Given the description of an element on the screen output the (x, y) to click on. 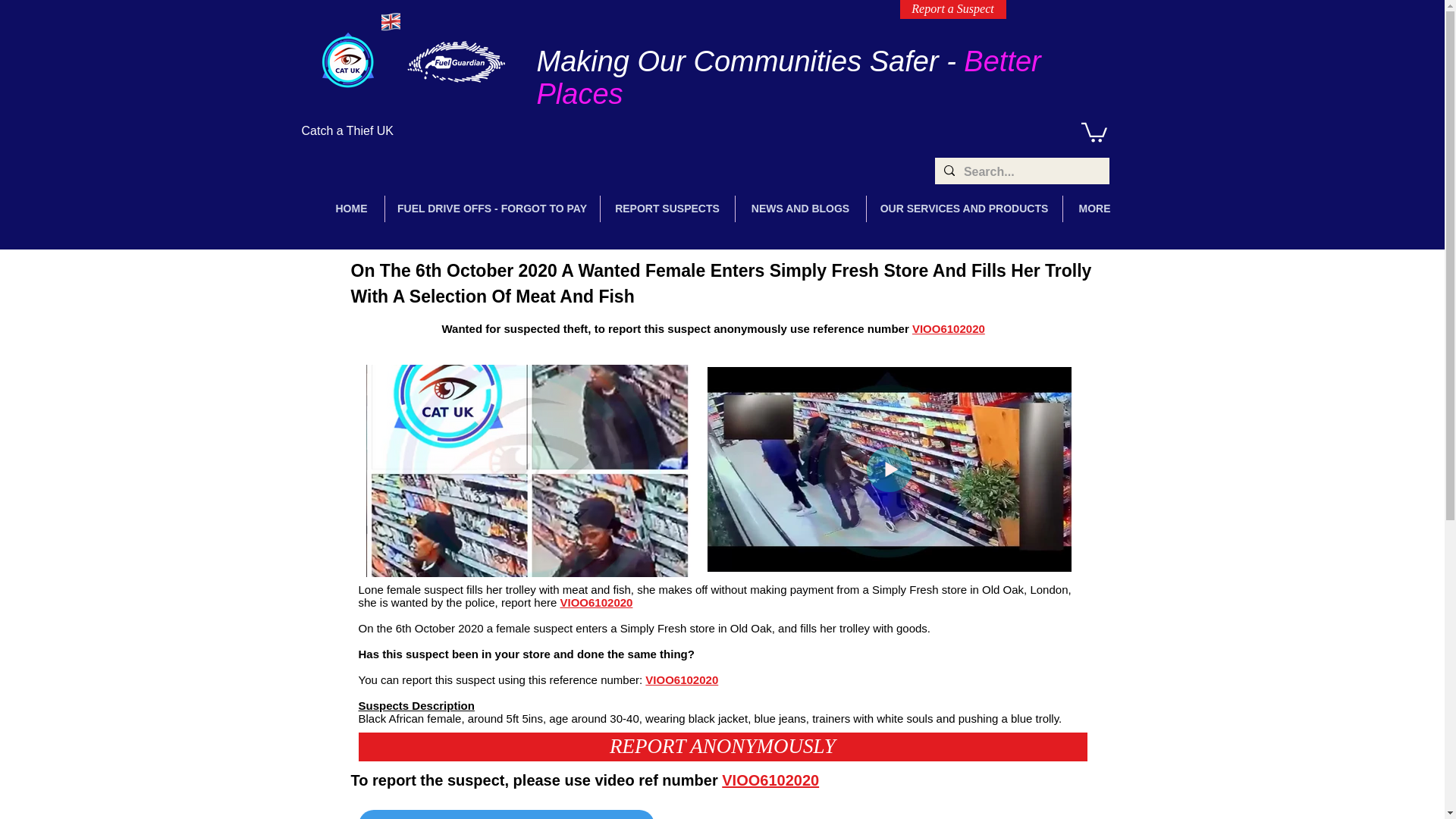
OUR SERVICES AND PRODUCTS (963, 208)
FUEL DRIVE OFFS - FORGOT TO PAY (492, 208)
Catch a Thief UK Home (346, 61)
Report a Suspect (952, 9)
Lone Female Suspect Simply Fresh Old Oak (526, 470)
REPORT SUSPECTS (667, 208)
NEWS AND BLOGS (800, 208)
HOME (351, 208)
